Given the description of an element on the screen output the (x, y) to click on. 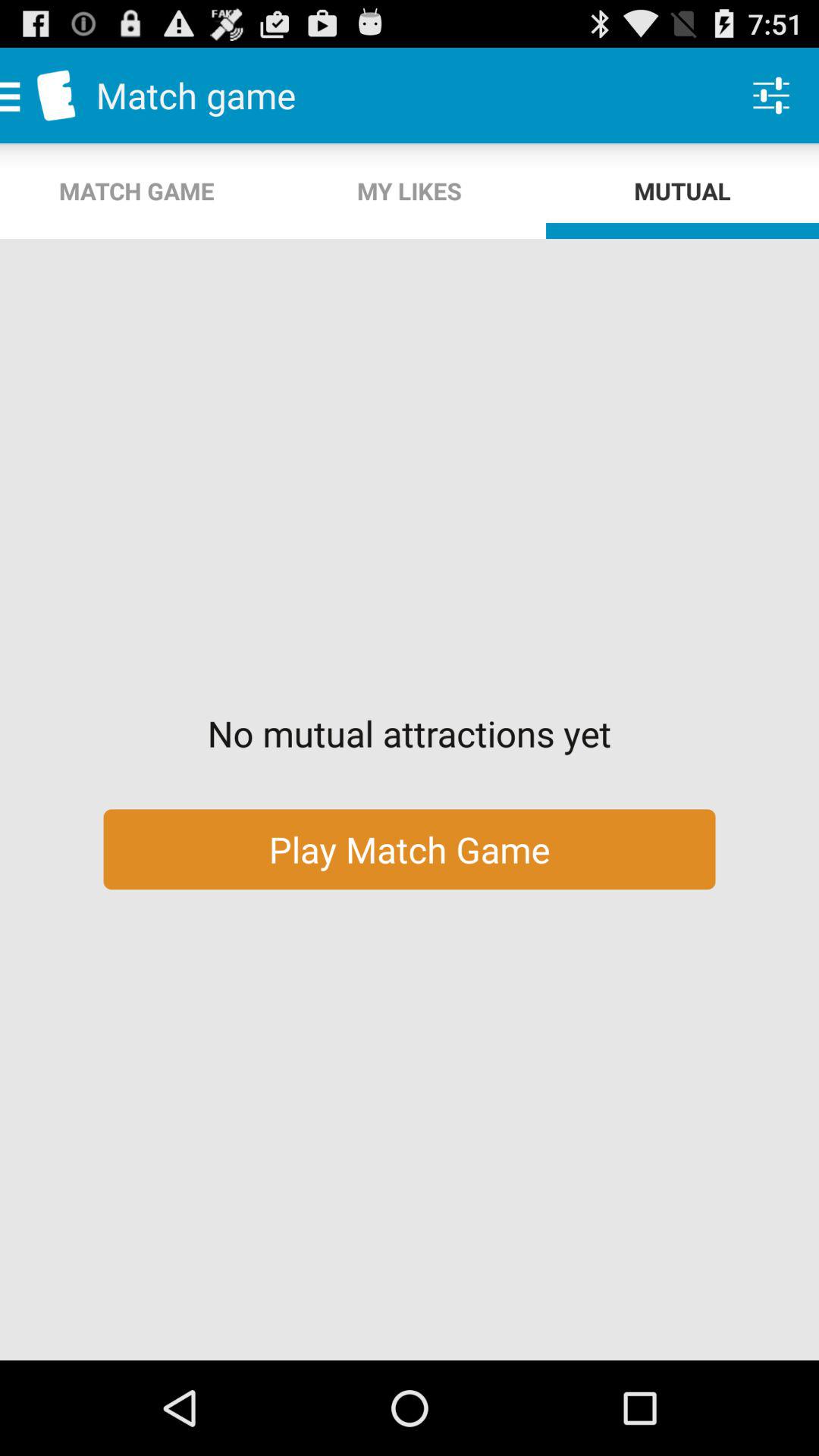
choose the icon next to match game item (409, 190)
